Given the description of an element on the screen output the (x, y) to click on. 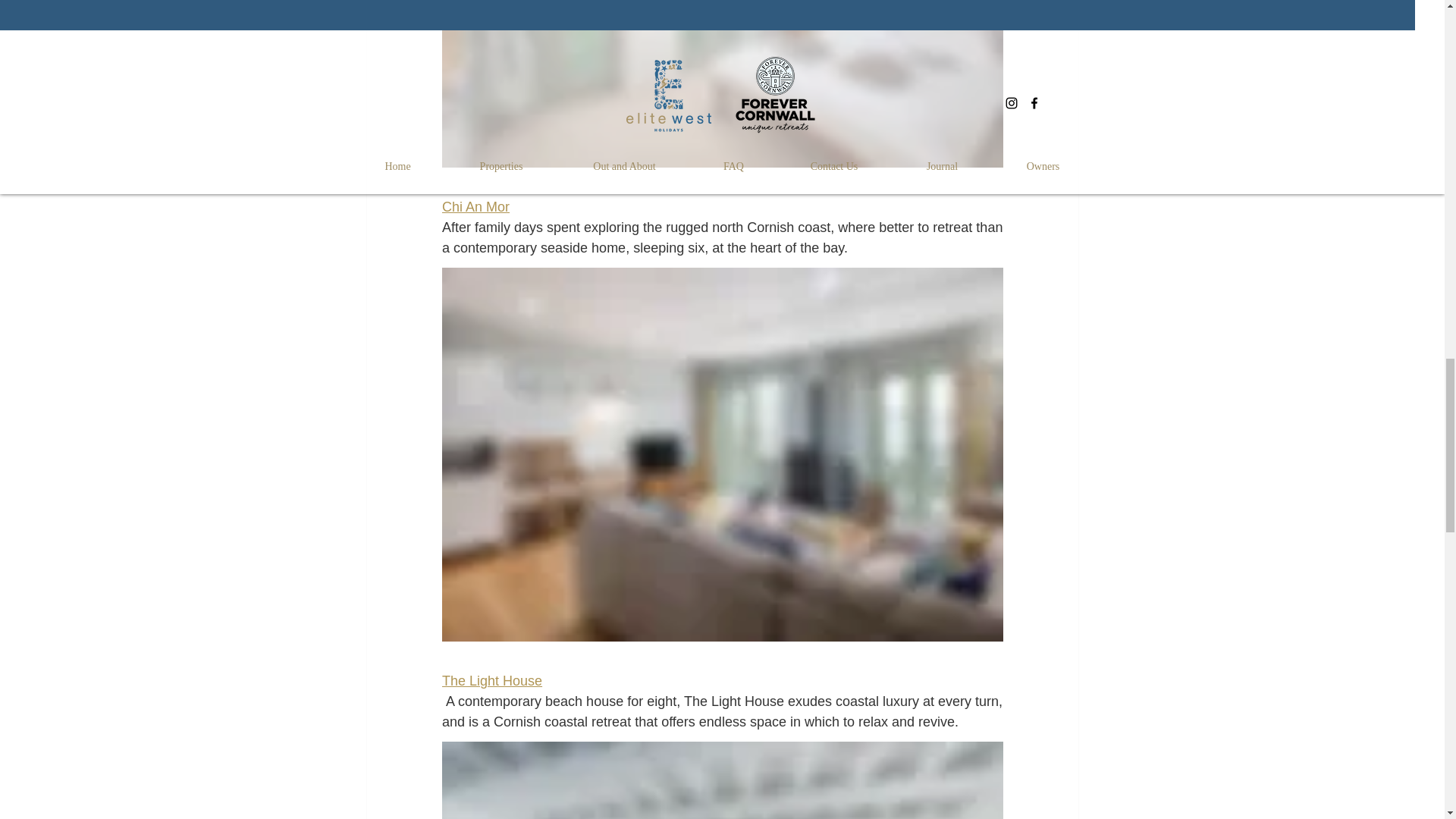
Chi An Mor (474, 206)
The Light House (491, 680)
